Given the description of an element on the screen output the (x, y) to click on. 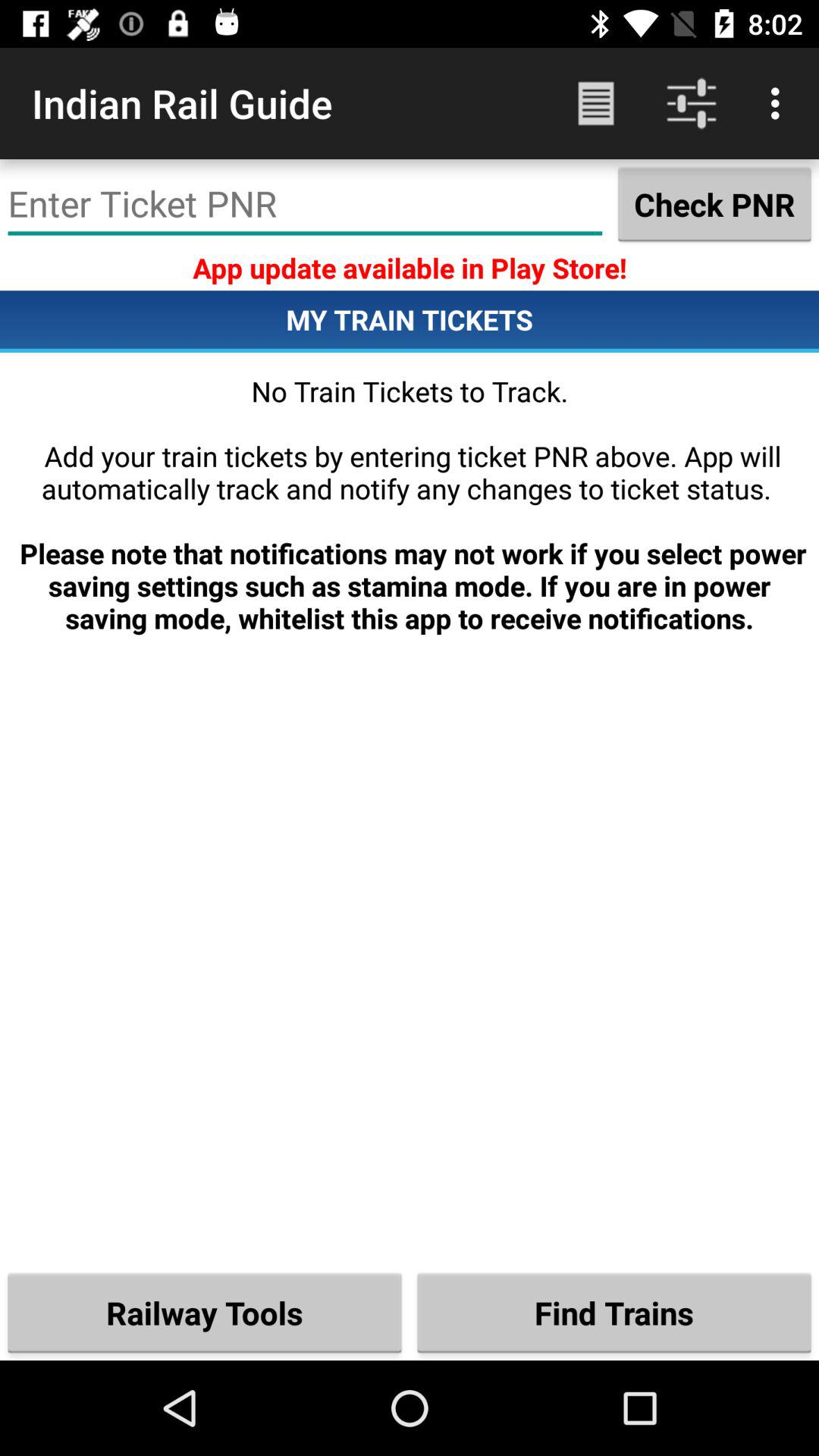
turn on the check pnr icon (714, 204)
